Given the description of an element on the screen output the (x, y) to click on. 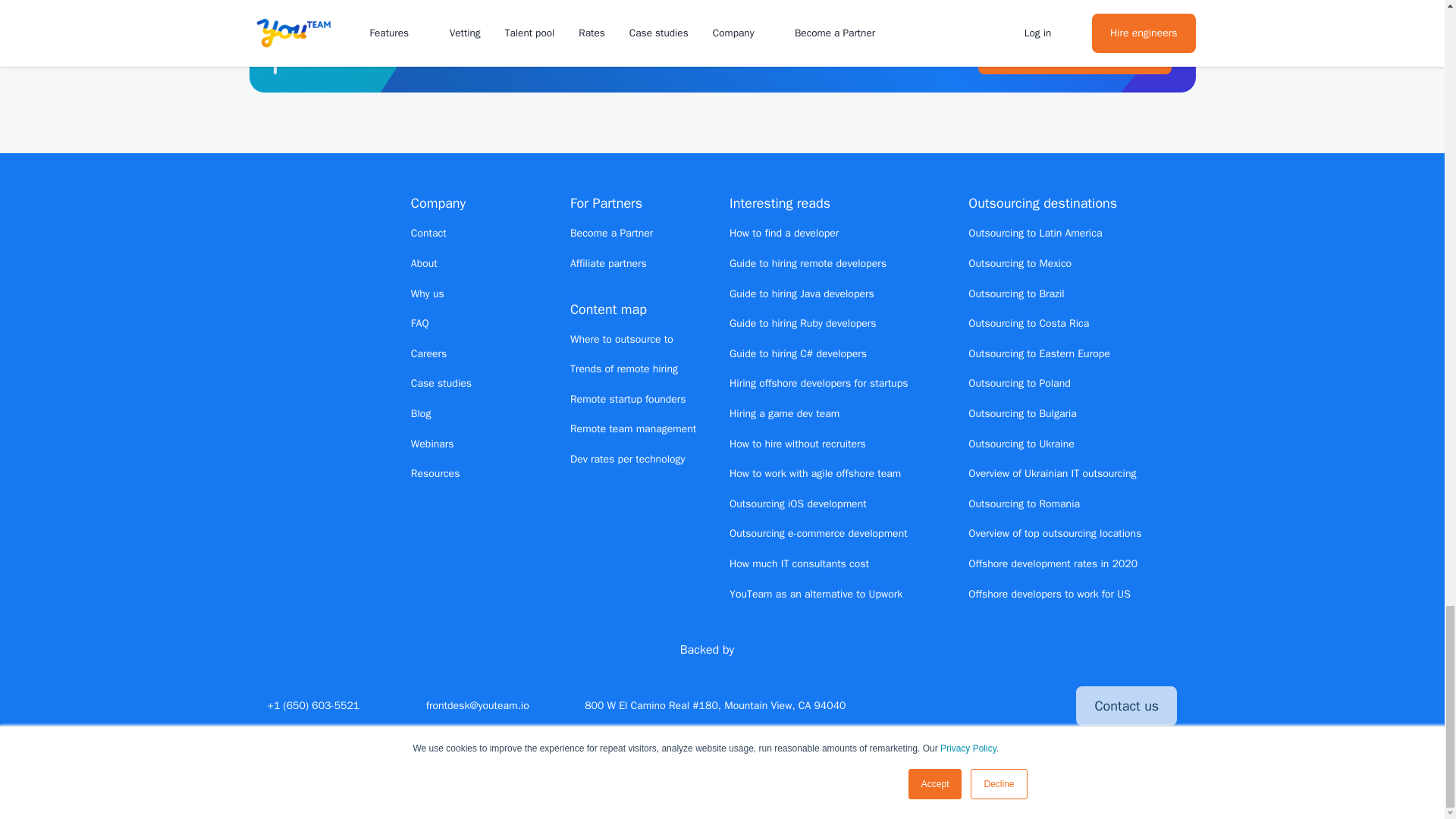
LinkedIn (964, 705)
Become a Partner (611, 232)
Webinars (432, 443)
Resources (435, 472)
Facebook (991, 705)
Remote team management (632, 428)
Privacy Policy (855, 790)
Guide to hiring remote developers (807, 263)
Trends of remote hiring (624, 368)
Why us (427, 293)
